Given the description of an element on the screen output the (x, y) to click on. 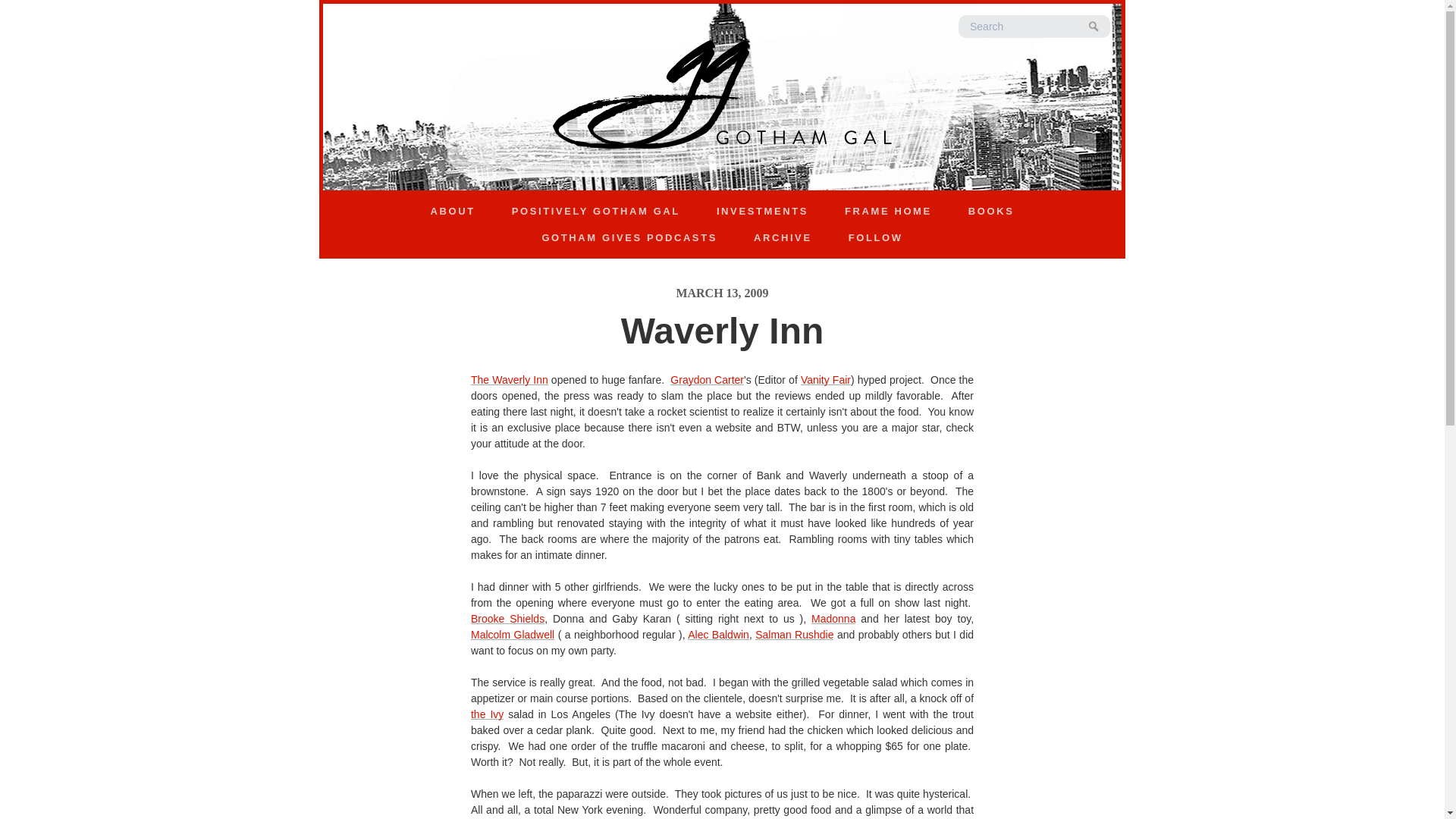
INVESTMENTS (762, 210)
Gotham Gives Podcasts (628, 237)
Archive (782, 237)
the Ivy (486, 714)
The Waverly Inn (509, 379)
Follow (875, 237)
Alec Baldwin (718, 634)
FOLLOW (875, 237)
Madonna (833, 618)
GOTHAM GIVES PODCASTS (628, 237)
